Given the description of an element on the screen output the (x, y) to click on. 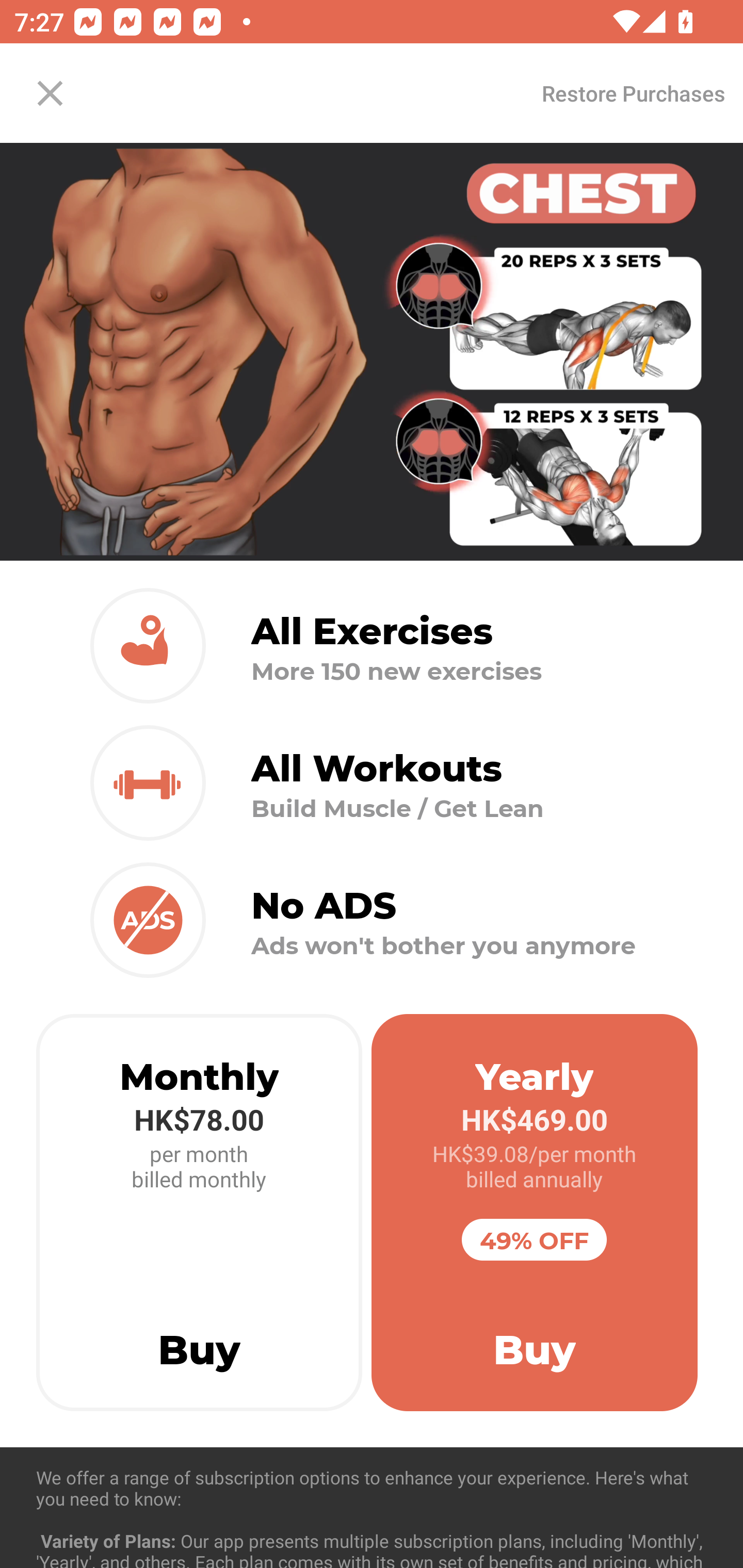
Restore Purchases (632, 92)
Monthly HK$78.00 per month
billed monthly Buy (199, 1212)
